Given the description of an element on the screen output the (x, y) to click on. 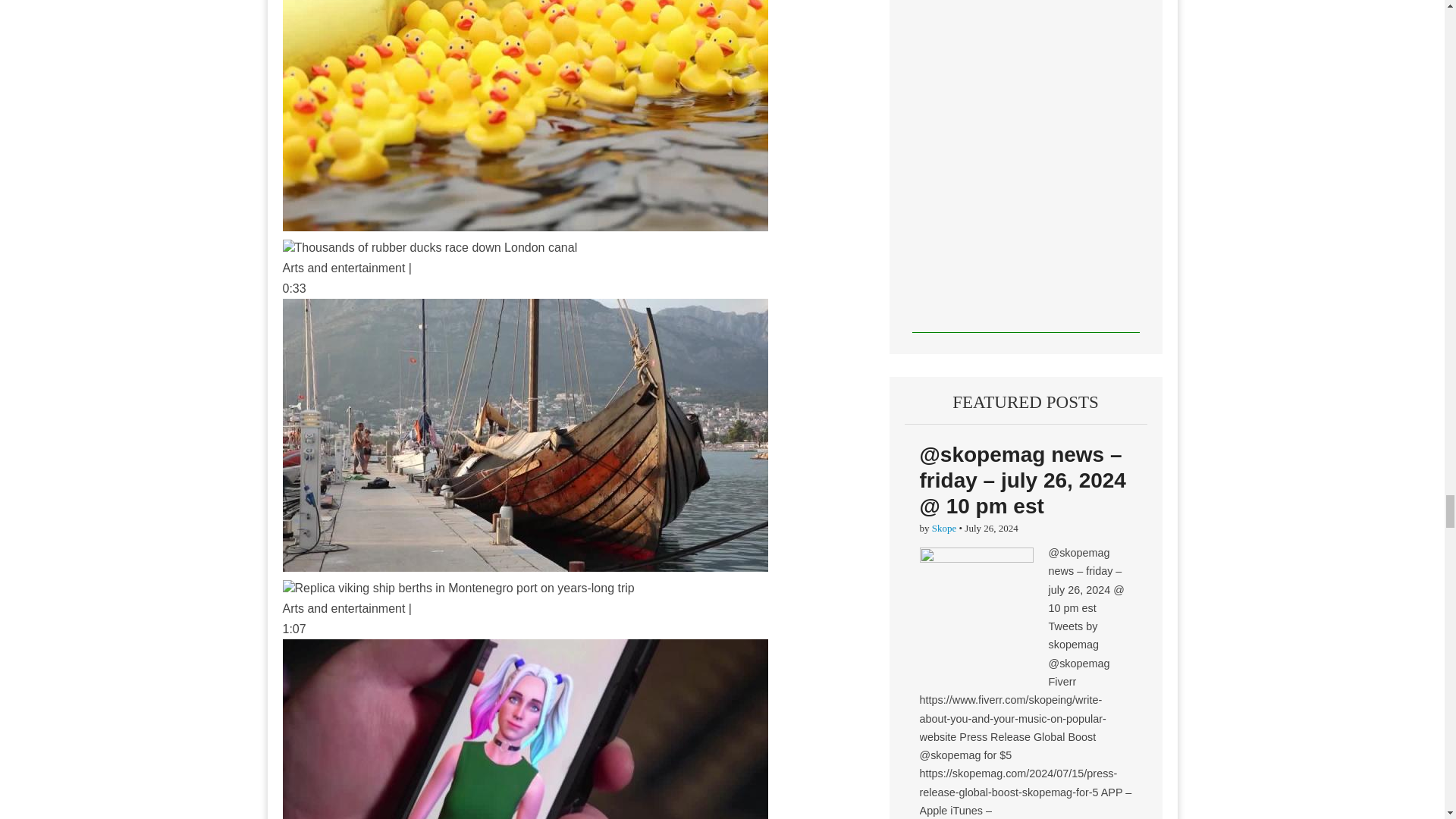
Posts by Skope (943, 527)
